Given the description of an element on the screen output the (x, y) to click on. 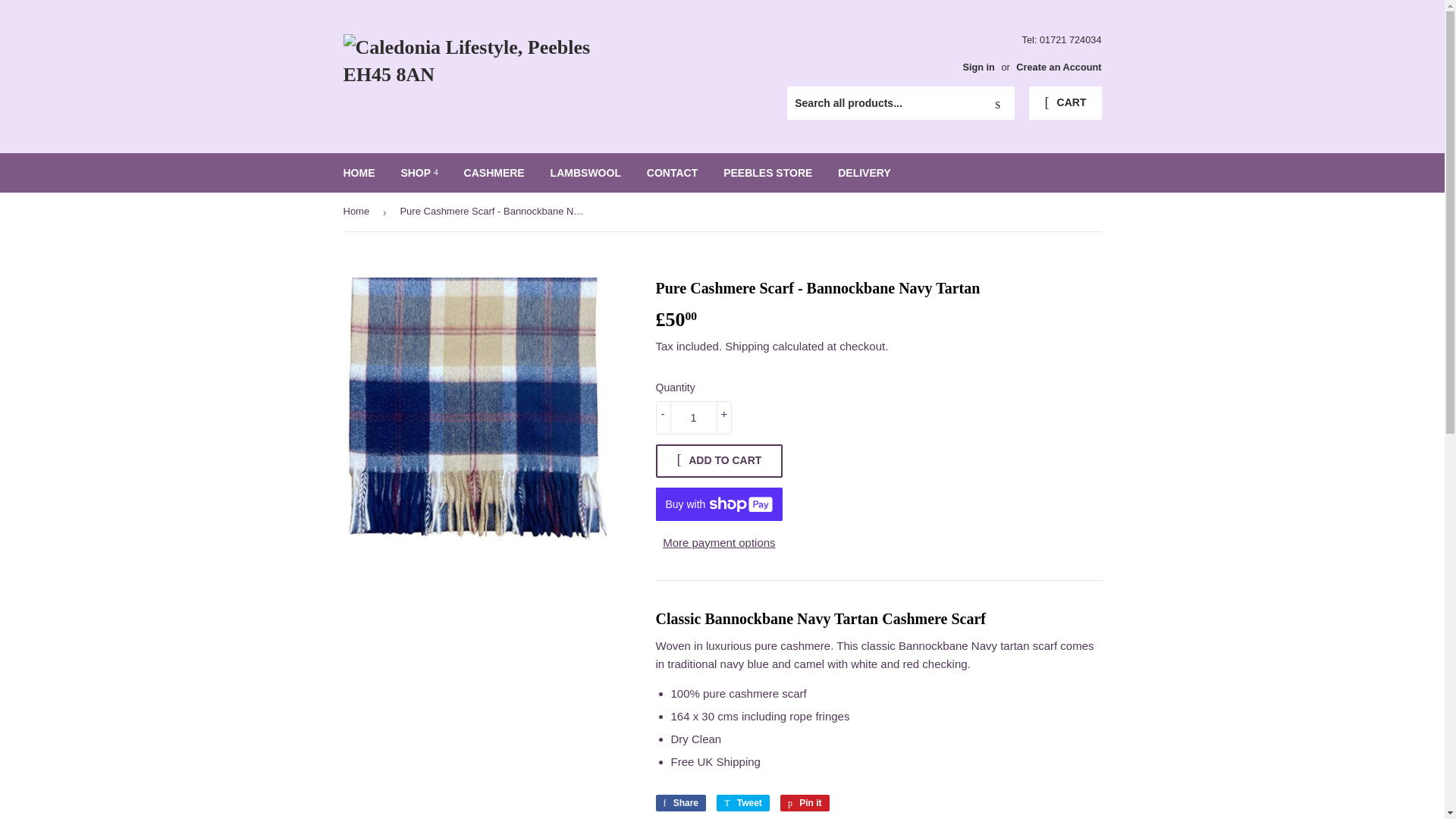
Search (996, 103)
CART (1064, 102)
Tweet on Twitter (743, 802)
1 (692, 417)
Sign in (978, 66)
Create an Account (1058, 66)
Pin on Pinterest (804, 802)
Share on Facebook (680, 802)
